Given the description of an element on the screen output the (x, y) to click on. 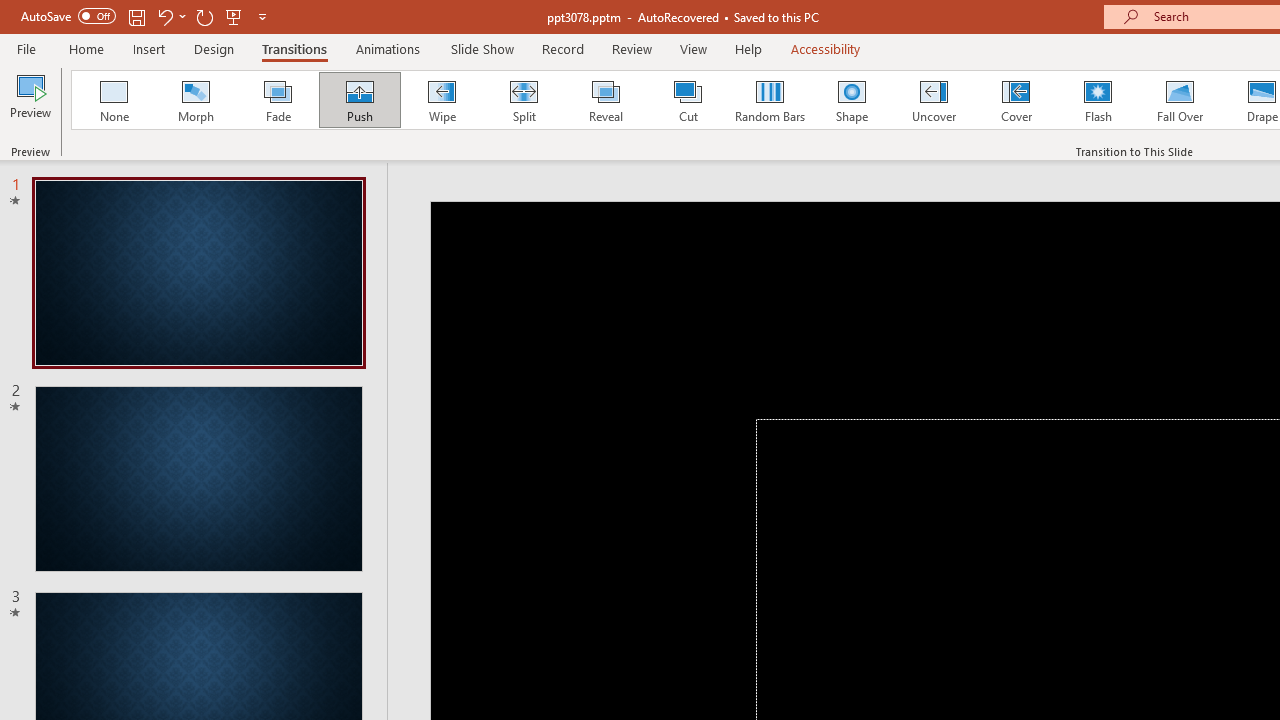
Wipe (441, 100)
Cover (1016, 100)
Fall Over (1180, 100)
Cut (687, 100)
Fade (277, 100)
None (113, 100)
Shape (852, 100)
